Given the description of an element on the screen output the (x, y) to click on. 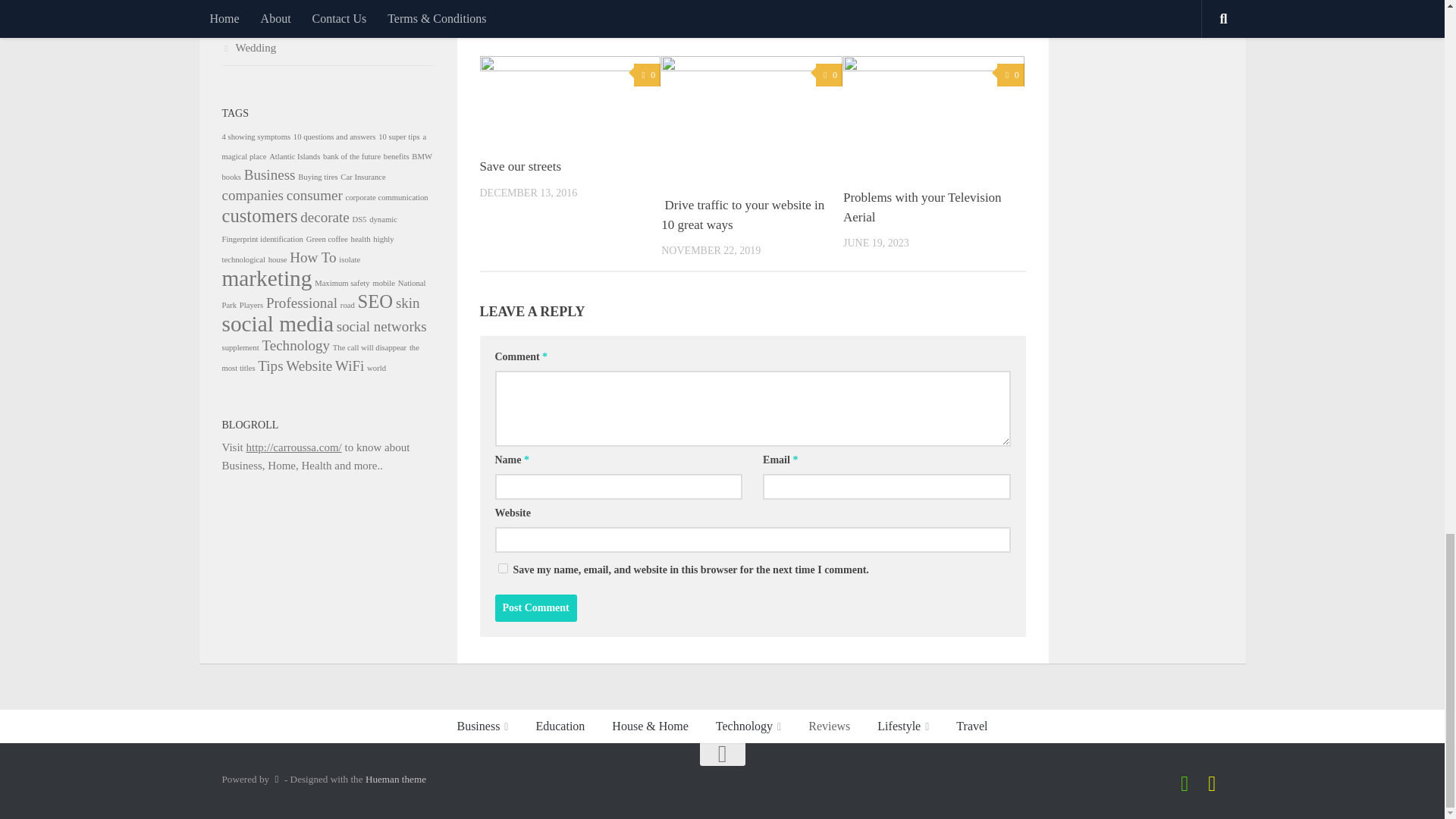
 Drive traffic to your website in 10 great ways (742, 214)
0 (829, 74)
0 (647, 74)
Save our streets (519, 165)
yes (501, 568)
0 (1010, 74)
Post Comment (535, 607)
Problems with your Television Aerial (922, 207)
